Given the description of an element on the screen output the (x, y) to click on. 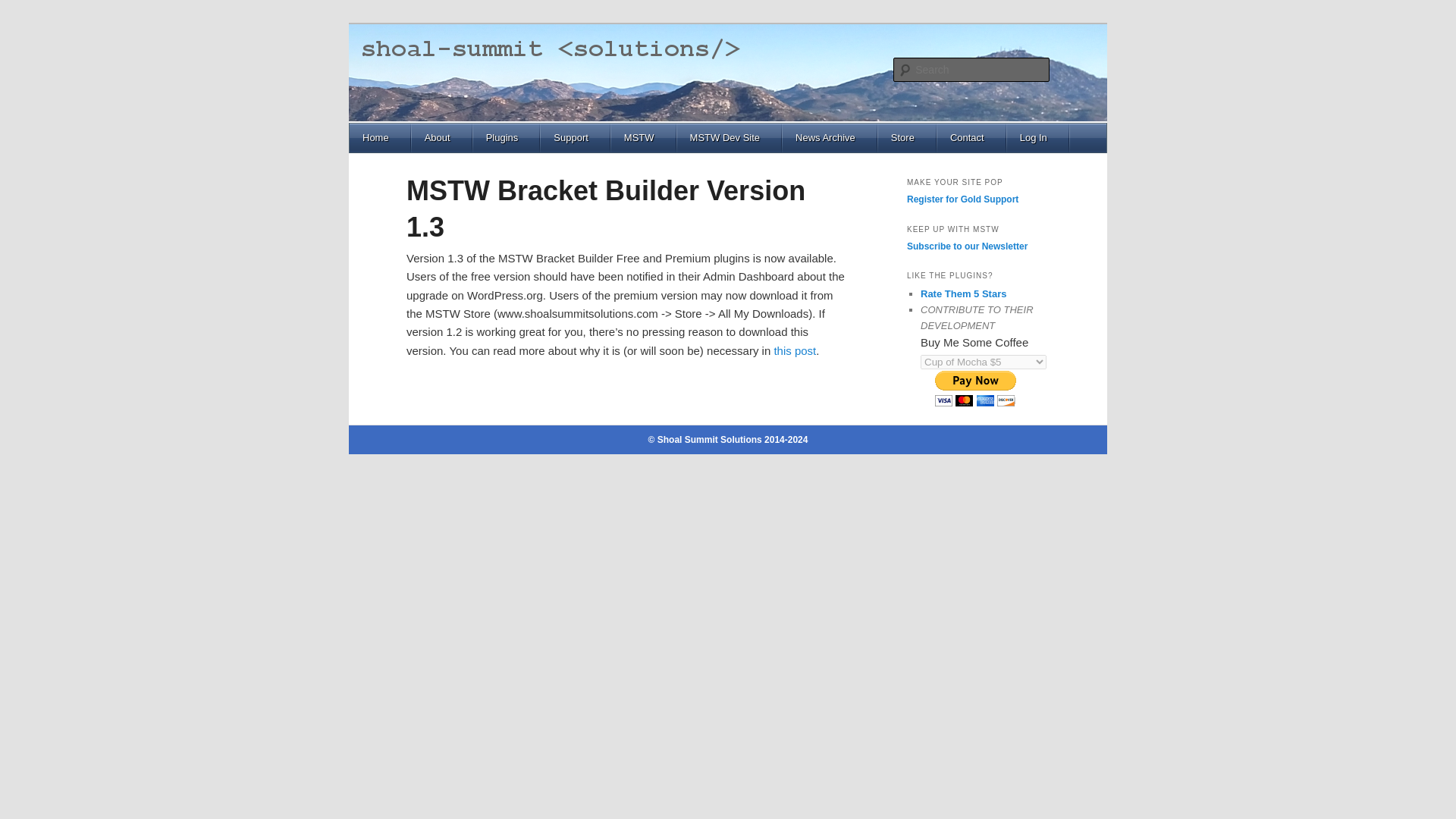
Skip to secondary content (427, 184)
Shoal Summit Solutions (537, 78)
Shoal Summit Solutions (537, 78)
About (442, 137)
Skip to primary content (421, 184)
Sign-up For Support (962, 199)
Plugins (507, 137)
Search (24, 8)
Home (380, 137)
